Given the description of an element on the screen output the (x, y) to click on. 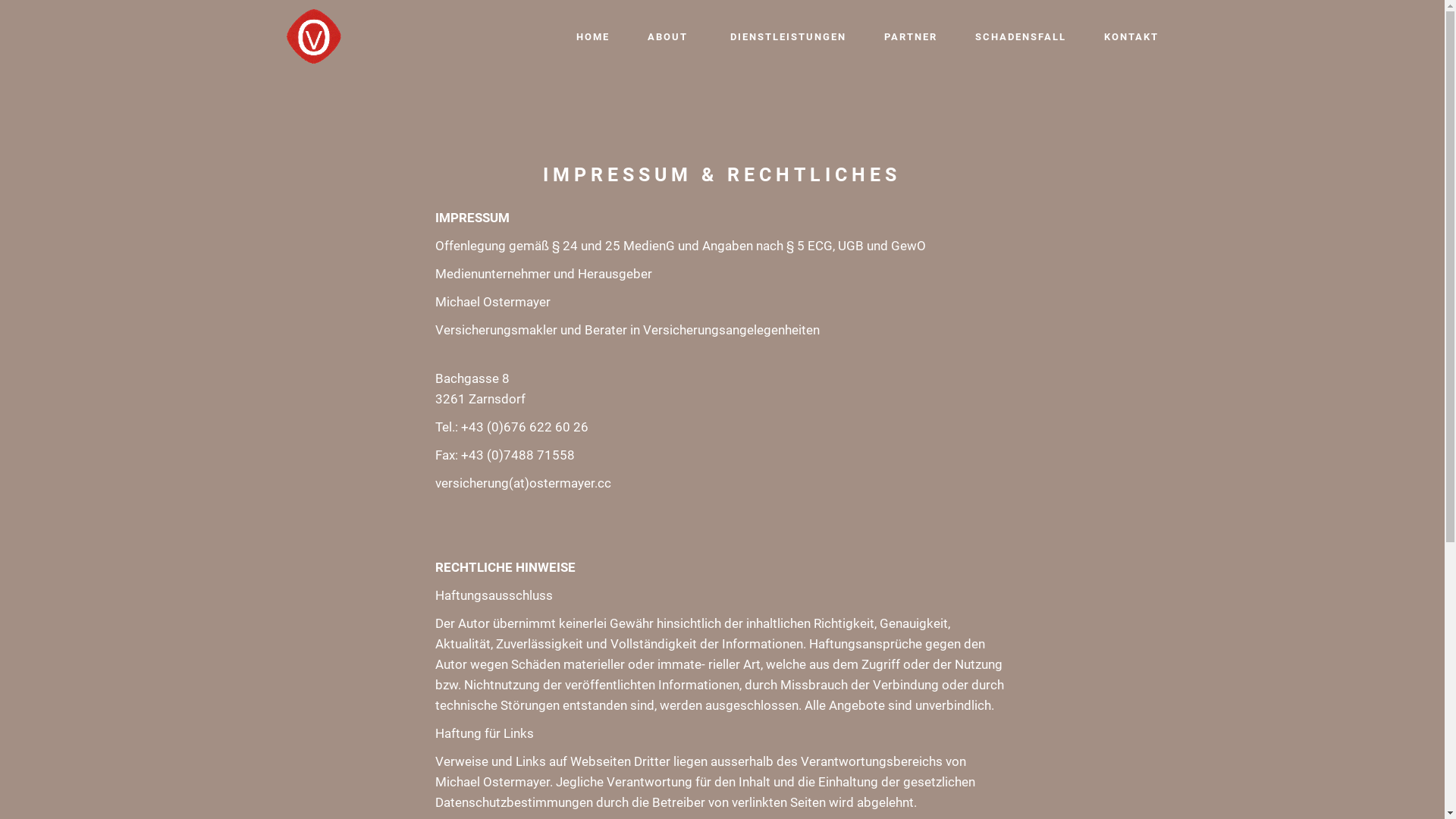
ABOUT  Element type: text (669, 36)
KONTAKT Element type: text (1130, 36)
SCHADENSFALL Element type: text (1020, 36)
DIENSTLEISTUNGEN Element type: text (787, 36)
HOME Element type: text (592, 36)
PARTNER Element type: text (910, 36)
